Given the description of an element on the screen output the (x, y) to click on. 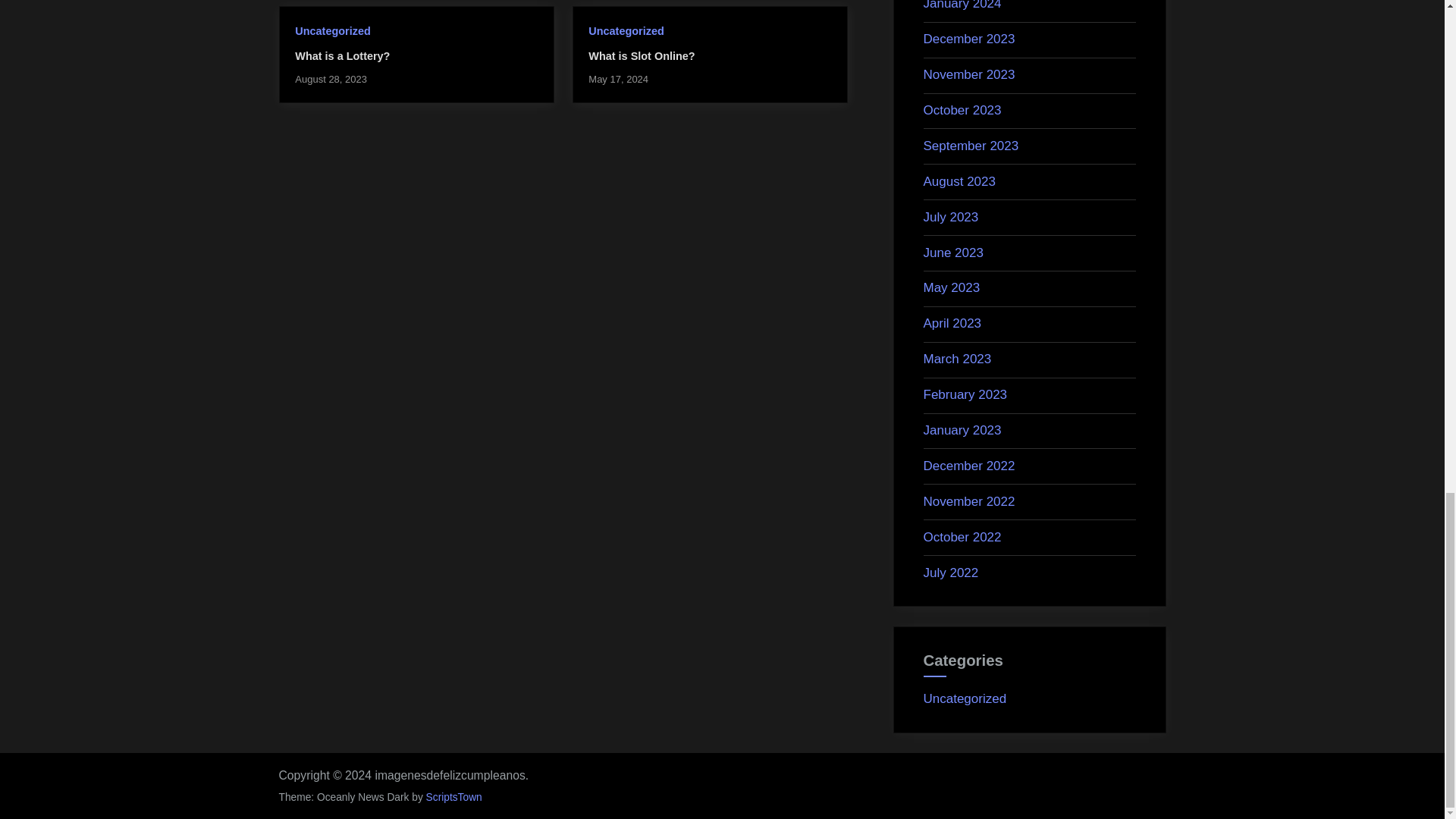
July 2023 (950, 216)
Uncategorized (332, 30)
January 2024 (962, 5)
November 2023 (968, 74)
October 2023 (962, 110)
August 2023 (959, 181)
What is Slot Online? (641, 55)
Uncategorized (625, 30)
What is a Lottery? (342, 55)
September 2023 (971, 145)
